Given the description of an element on the screen output the (x, y) to click on. 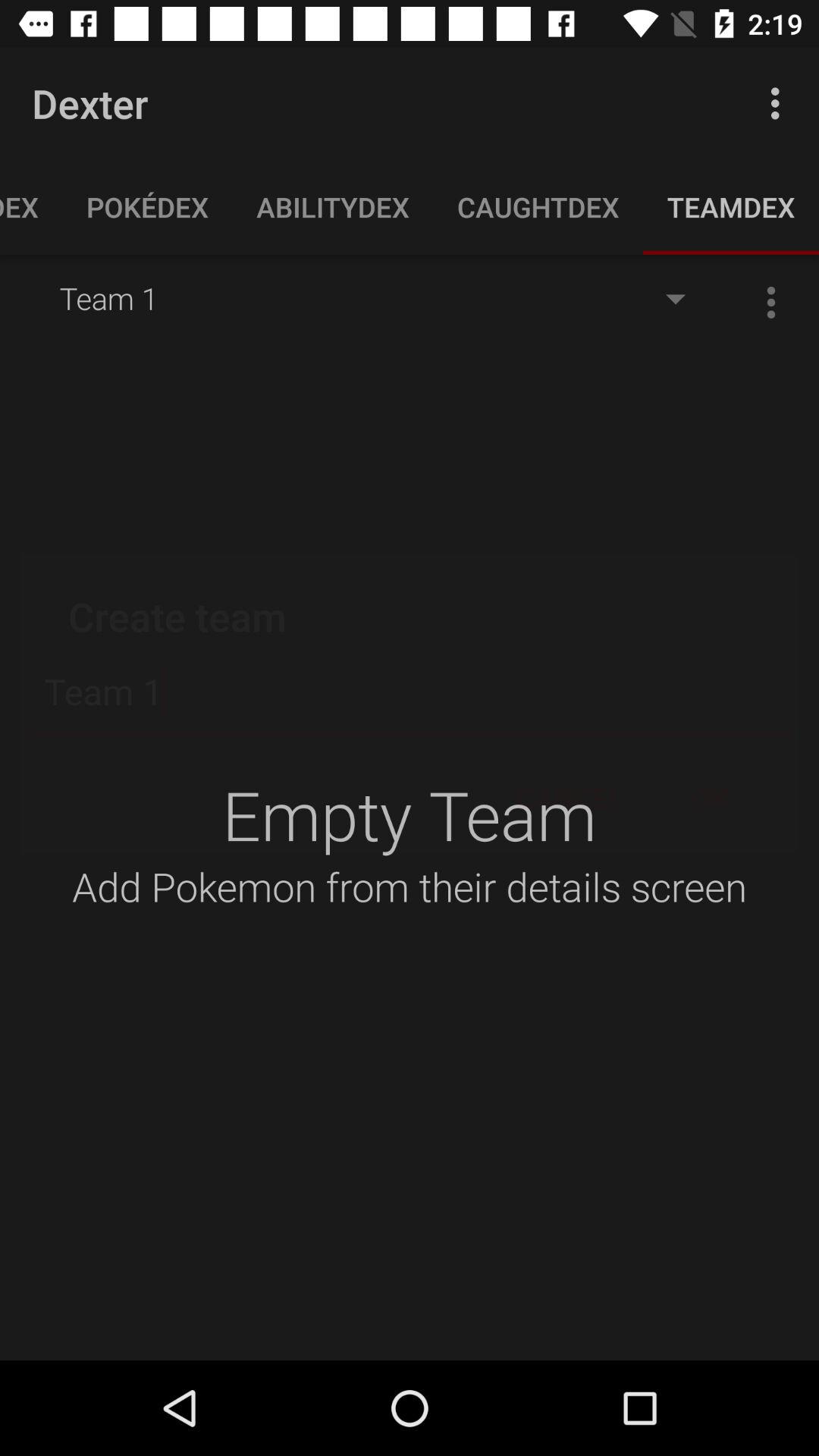
click icon to the right of the dexter app (779, 103)
